Given the description of an element on the screen output the (x, y) to click on. 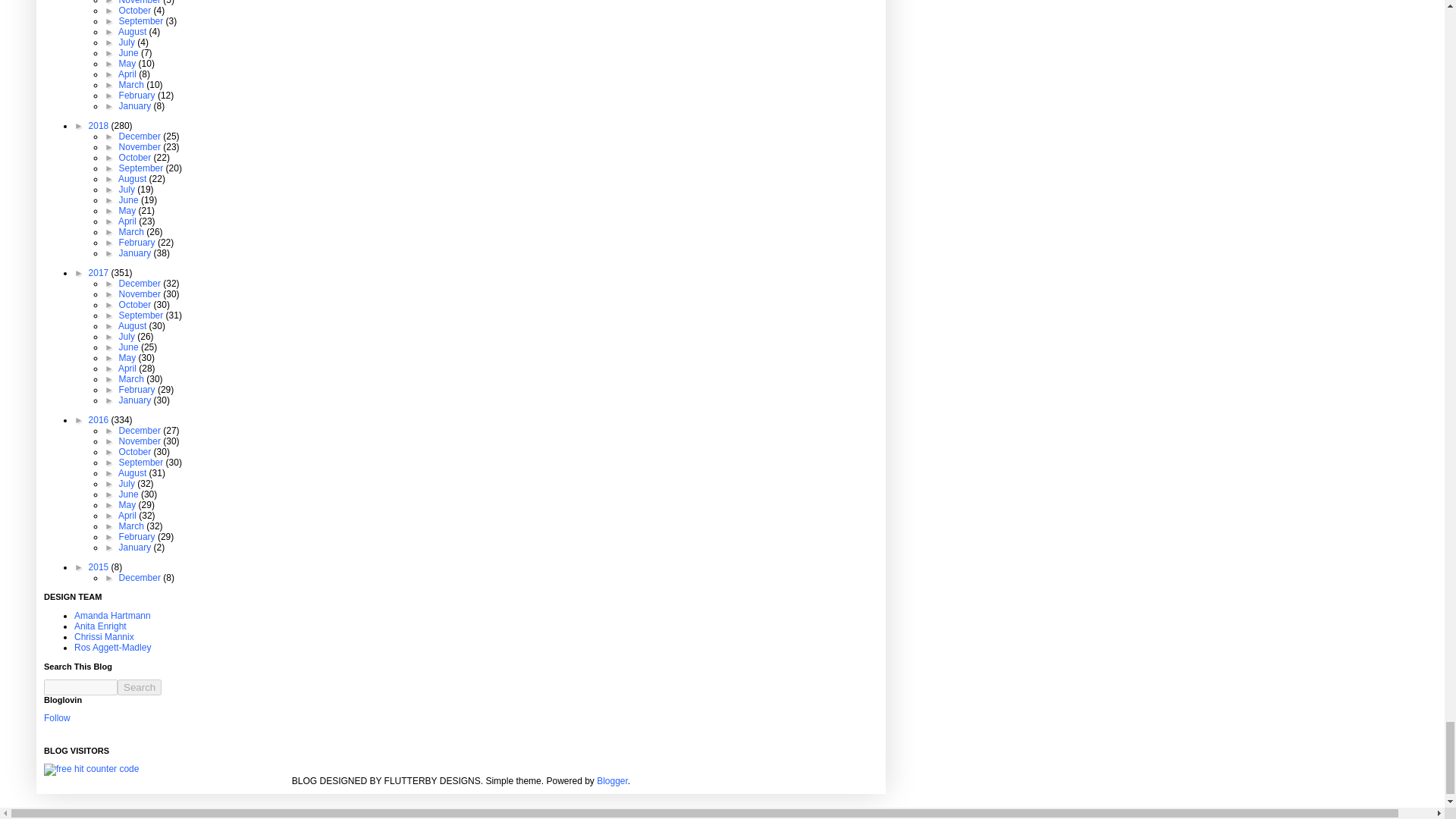
search (139, 687)
free hit counter code (90, 768)
Search (139, 687)
Search (139, 687)
free hit counter code (90, 769)
search (80, 687)
